Given the description of an element on the screen output the (x, y) to click on. 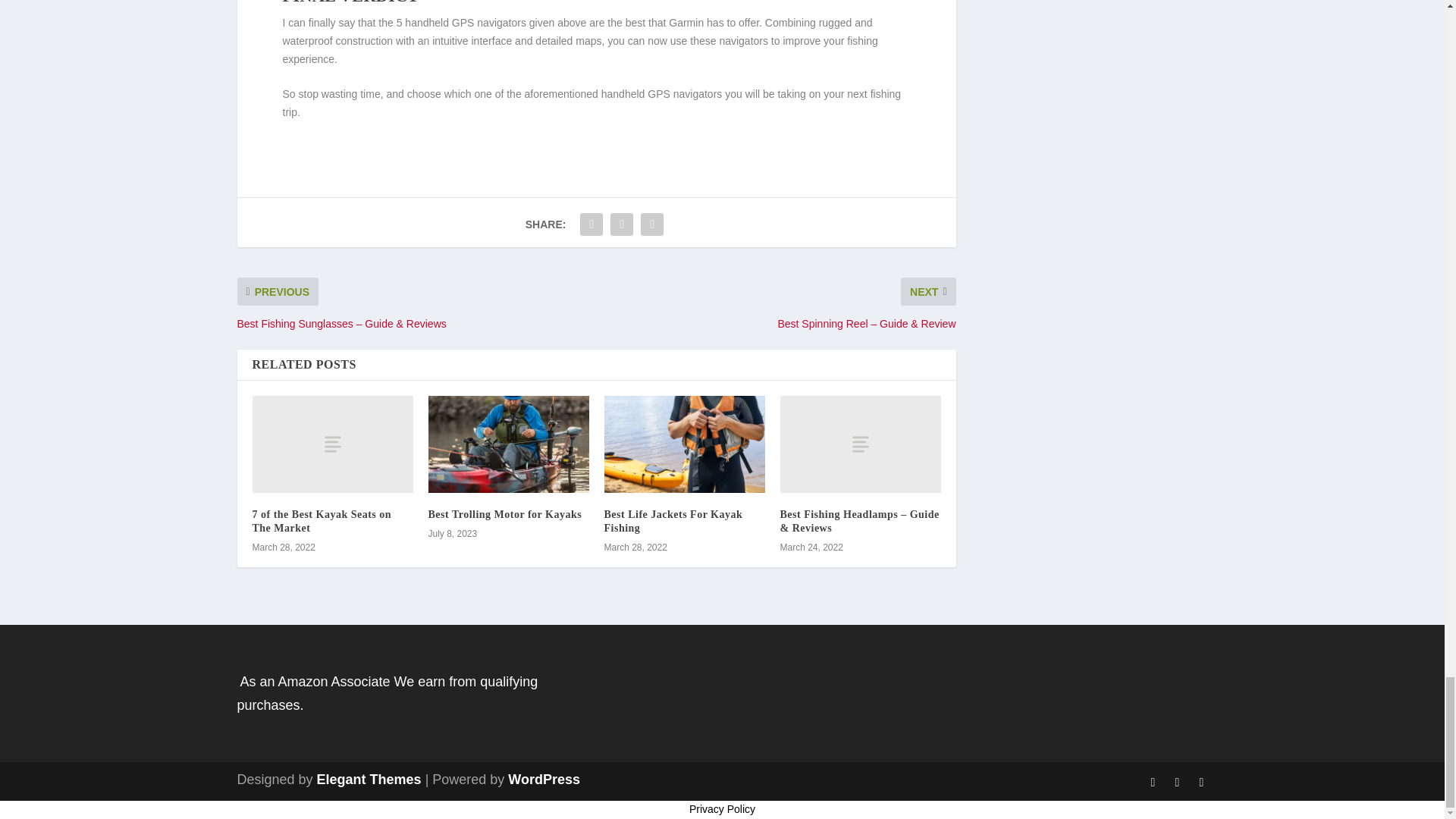
Share "Best Handheld GPS For Fishing" via Twitter (622, 224)
Best Life Jackets For Kayak Fishing (673, 520)
7 of the Best Kayak Seats on The Market (321, 520)
Best Trolling Motor for Kayaks (508, 443)
Share "Best Handheld GPS For Fishing" via Pinterest (651, 224)
7 of the Best Kayak Seats on The Market (331, 443)
Best Life Jackets For Kayak Fishing (684, 443)
Share "Best Handheld GPS For Fishing" via Facebook (591, 224)
Premium WordPress Themes (369, 779)
Best Trolling Motor for Kayaks (504, 514)
